Given the description of an element on the screen output the (x, y) to click on. 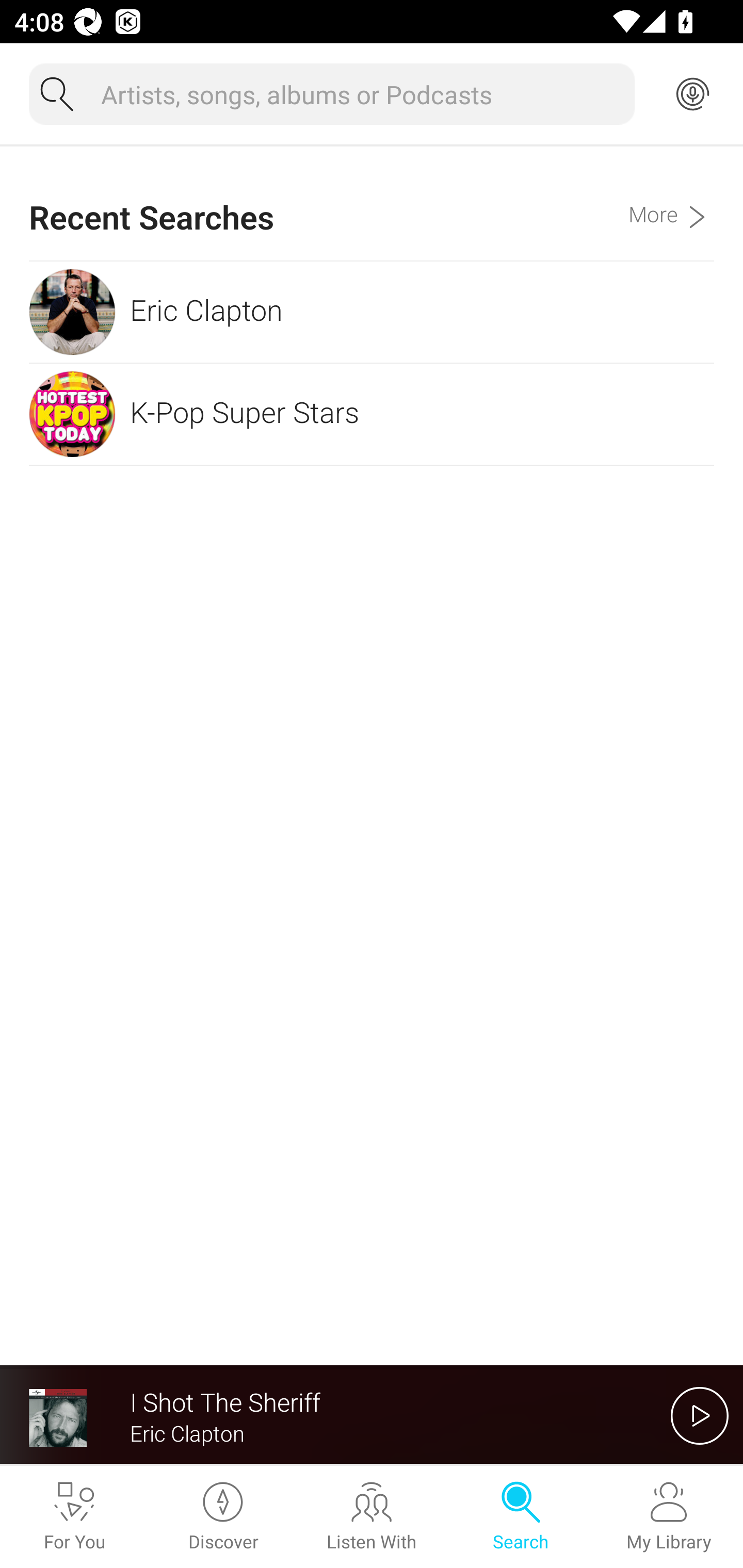
Music recognition (692, 93)
Artists, songs, albums or Podcasts (360, 93)
More Recent Searches More (671, 202)
Eric Clapton (371, 311)
K-Pop Super Stars (371, 413)
開始播放 (699, 1415)
For You (74, 1517)
Discover (222, 1517)
Listen With (371, 1517)
Search (519, 1517)
My Library (668, 1517)
